Given the description of an element on the screen output the (x, y) to click on. 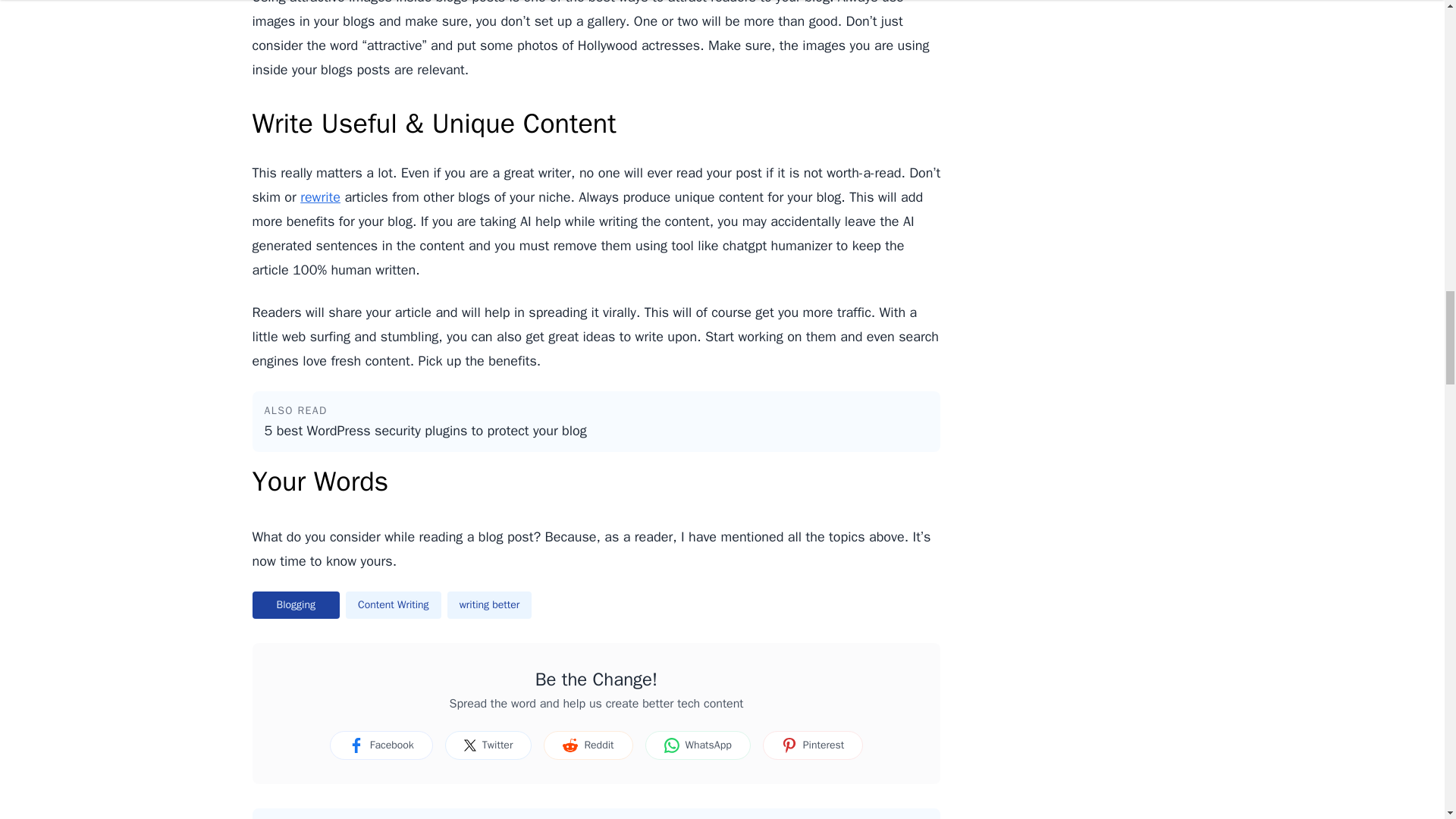
Pinterest (812, 745)
Twitter (488, 745)
rewrite (319, 197)
Blogging (295, 605)
View all posts in Blogging (295, 605)
WhatsApp (698, 745)
Facebook (381, 745)
Reddit (587, 745)
writing better (489, 605)
View all posts in writing better (489, 605)
Content Writing (393, 605)
View all posts in Content Writing (393, 605)
5 best WordPress security plugins to protect your blog (595, 430)
